Given the description of an element on the screen output the (x, y) to click on. 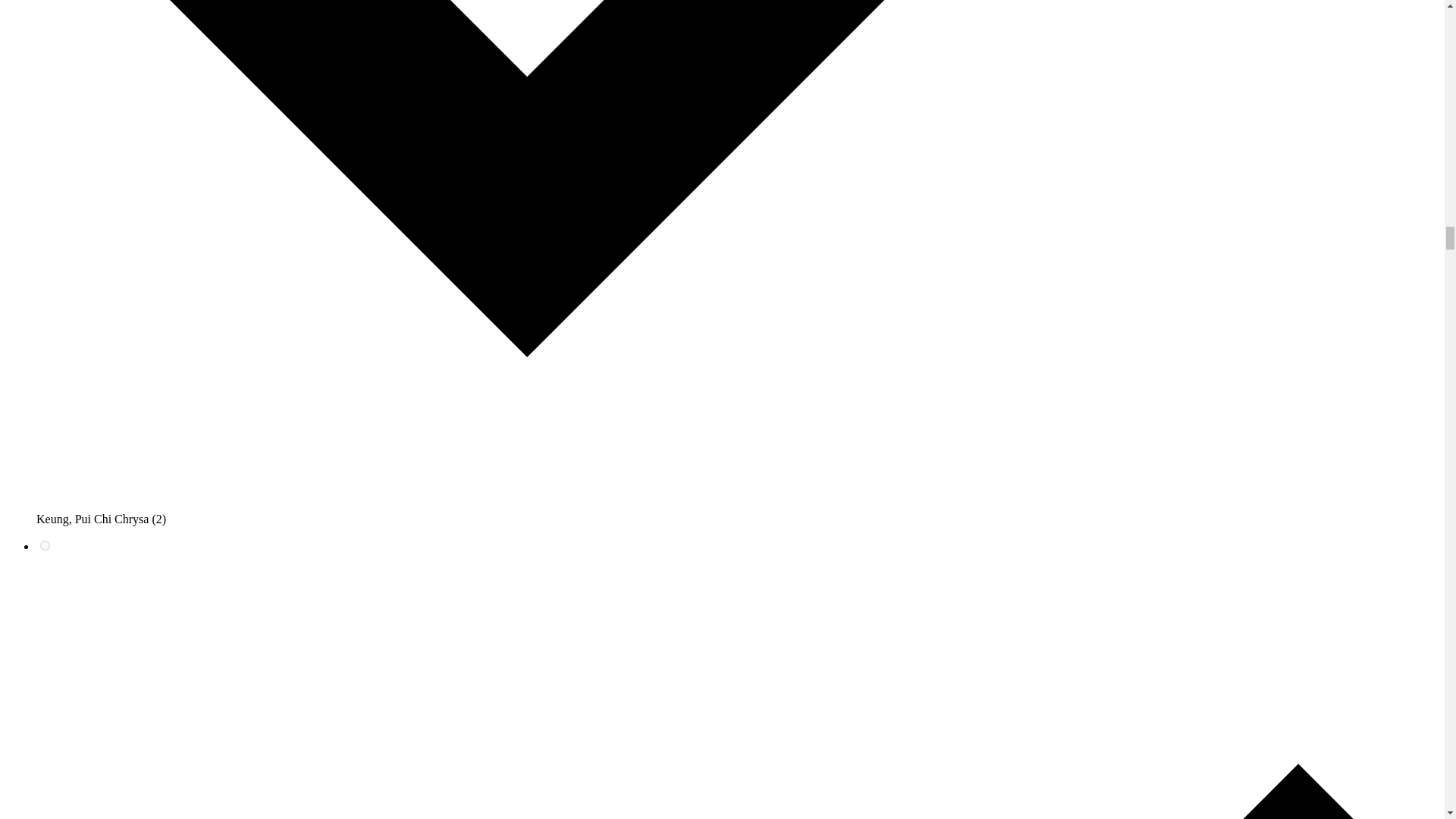
Wong, Ping Man (44, 545)
